Given the description of an element on the screen output the (x, y) to click on. 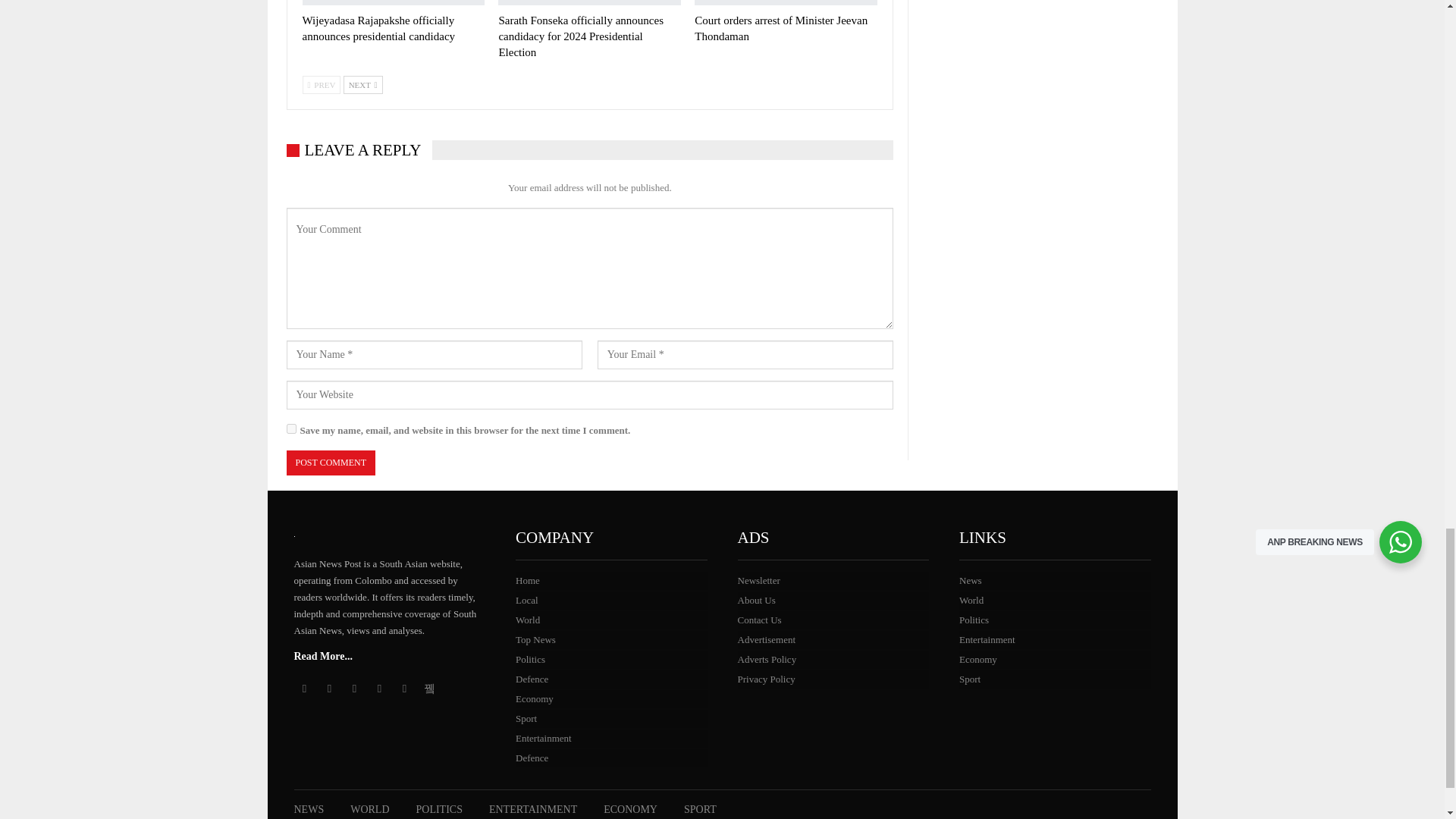
Court orders arrest of Minister Jeevan Thondaman (780, 28)
Post Comment (330, 462)
Court orders arrest of Minister Jeevan Thondaman (785, 2)
yes (291, 429)
